Given the description of an element on the screen output the (x, y) to click on. 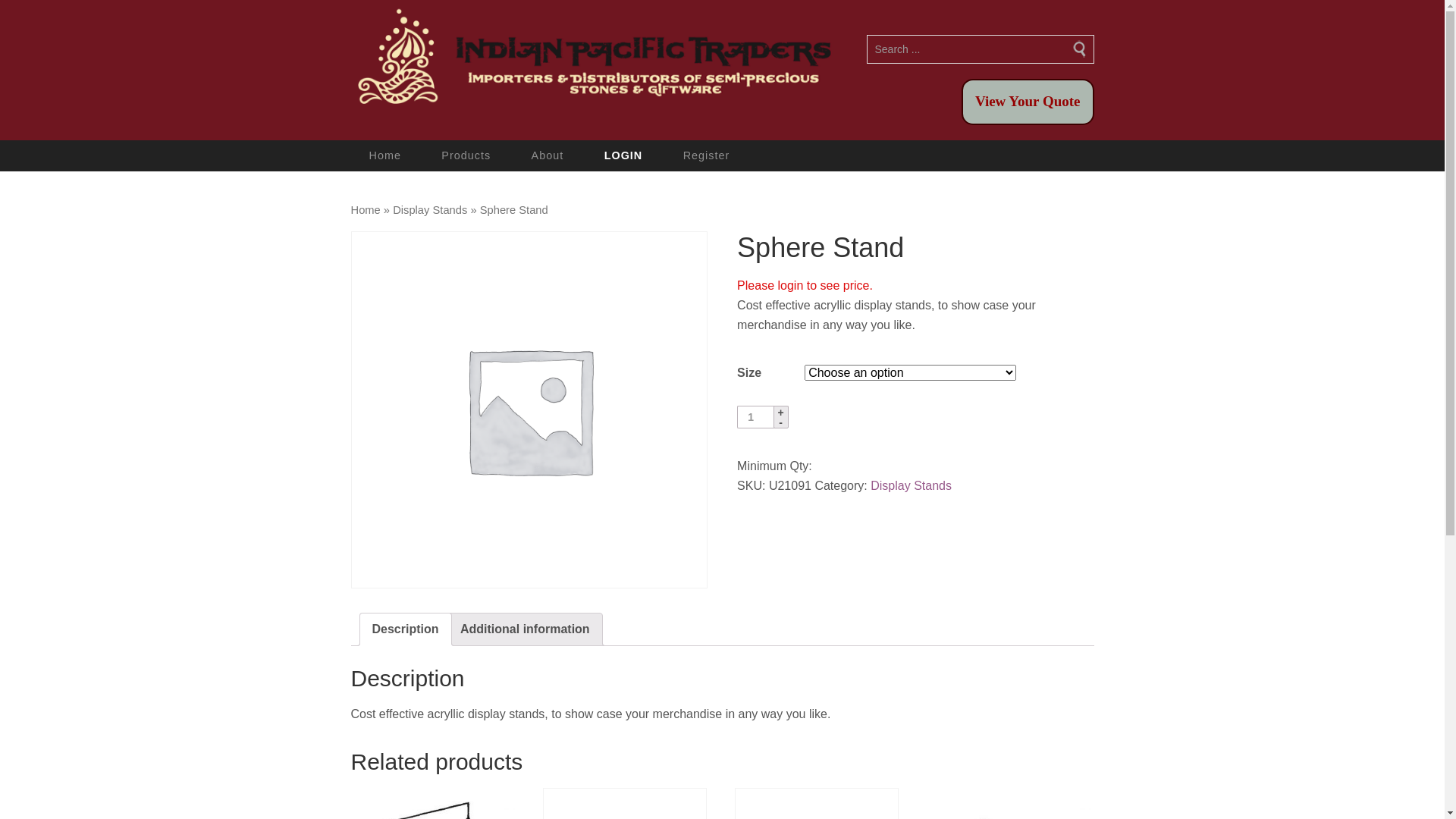
Display Stands Element type: text (910, 485)
Description Element type: text (404, 628)
LOGIN Element type: text (623, 156)
Qty Element type: hover (756, 416)
Search Element type: text (1093, 34)
Products Element type: text (465, 156)
About Element type: text (547, 156)
Home Element type: text (384, 156)
View Your Quote Element type: text (1027, 101)
Register Element type: text (706, 156)
Additional information Element type: text (524, 628)
Home Element type: text (364, 209)
Indian Pacific Traders Element type: text (591, 61)
Search for: Element type: hover (979, 48)
Display Stands Element type: text (429, 209)
